Given the description of an element on the screen output the (x, y) to click on. 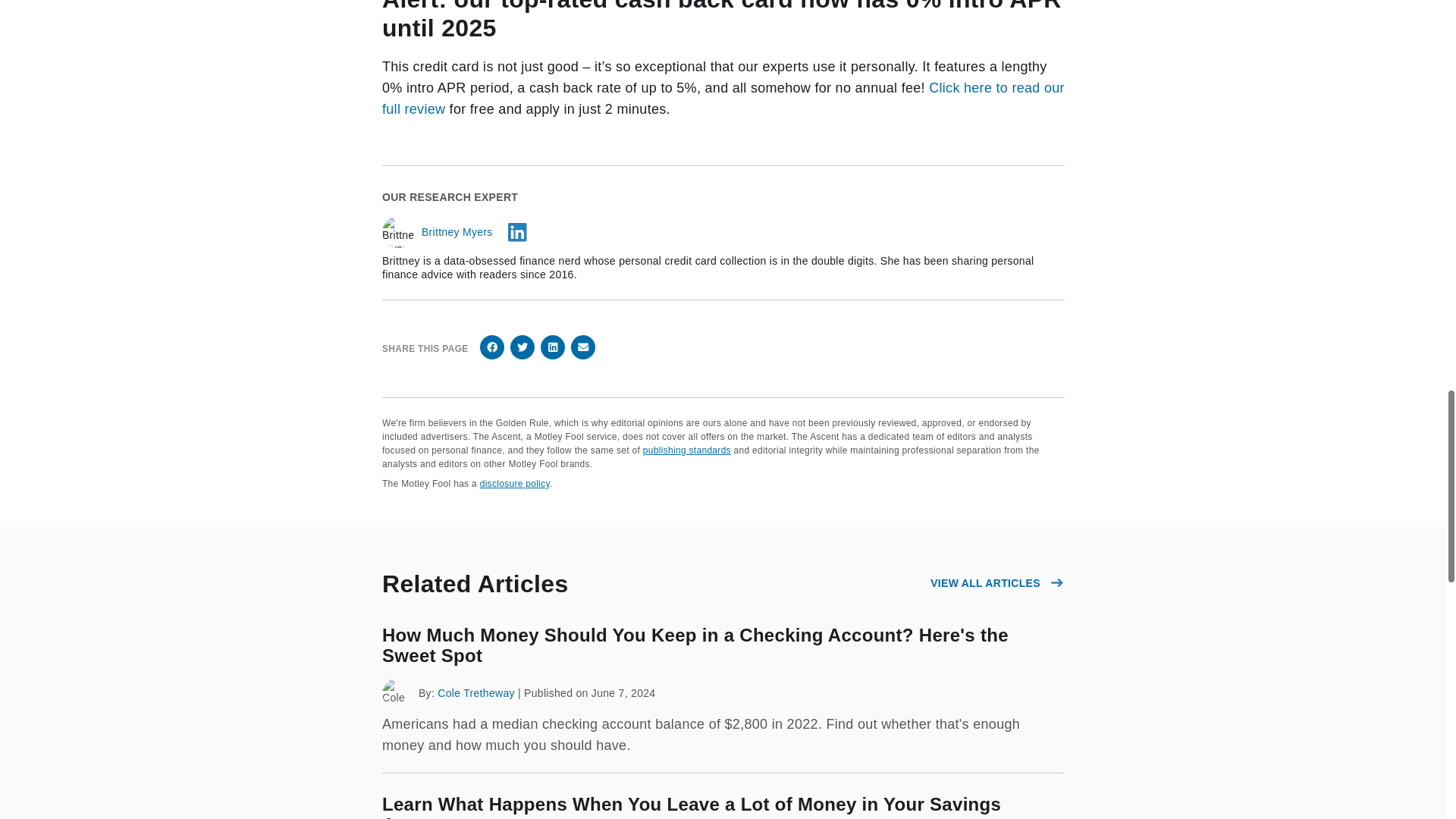
Blue Twitter Icon Share this website with Twitter (522, 346)
Email Icon Share this website with email (582, 346)
